Given the description of an element on the screen output the (x, y) to click on. 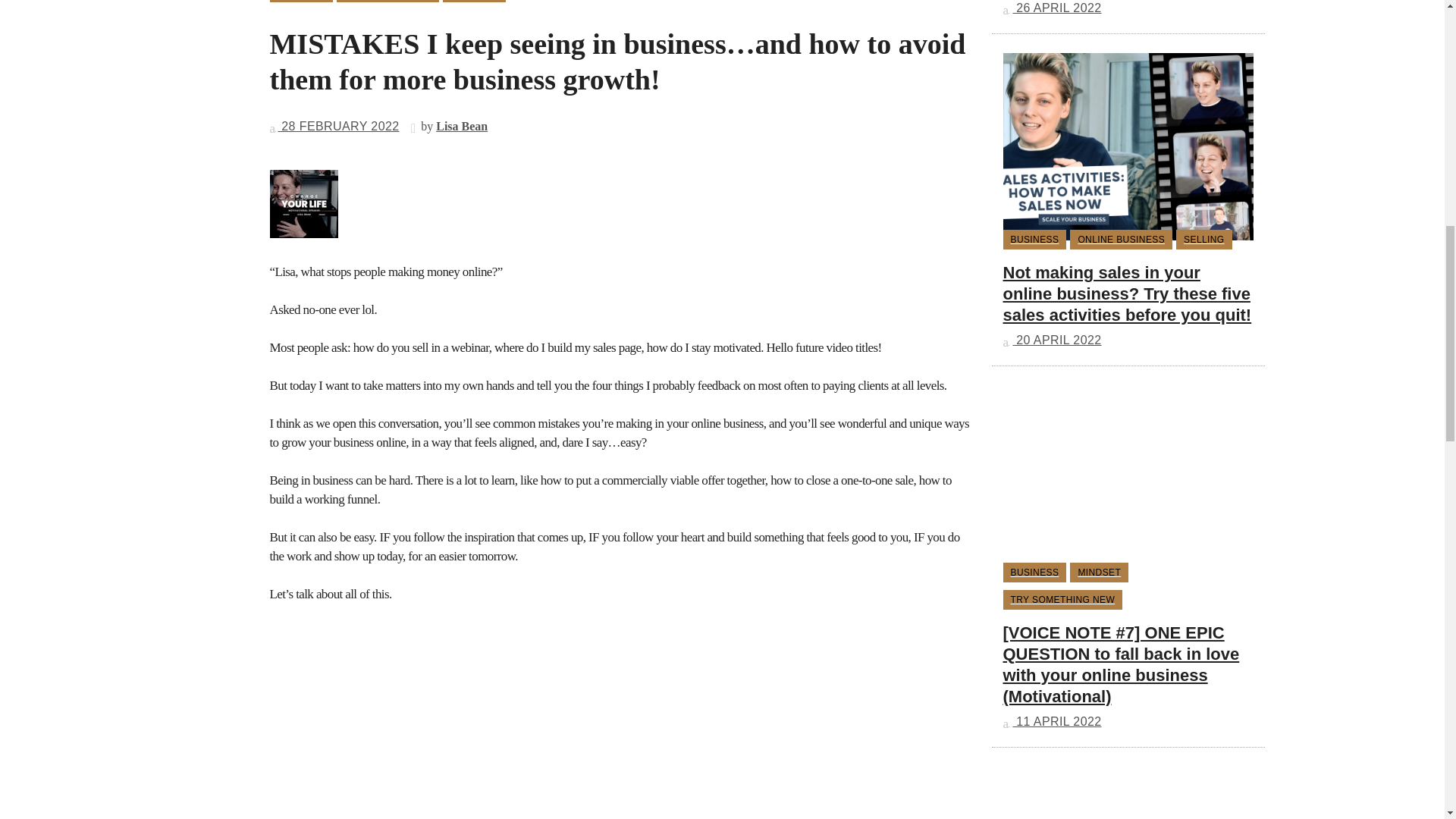
Libsyn Player (620, 203)
YouTube video player (481, 720)
